Given the description of an element on the screen output the (x, y) to click on. 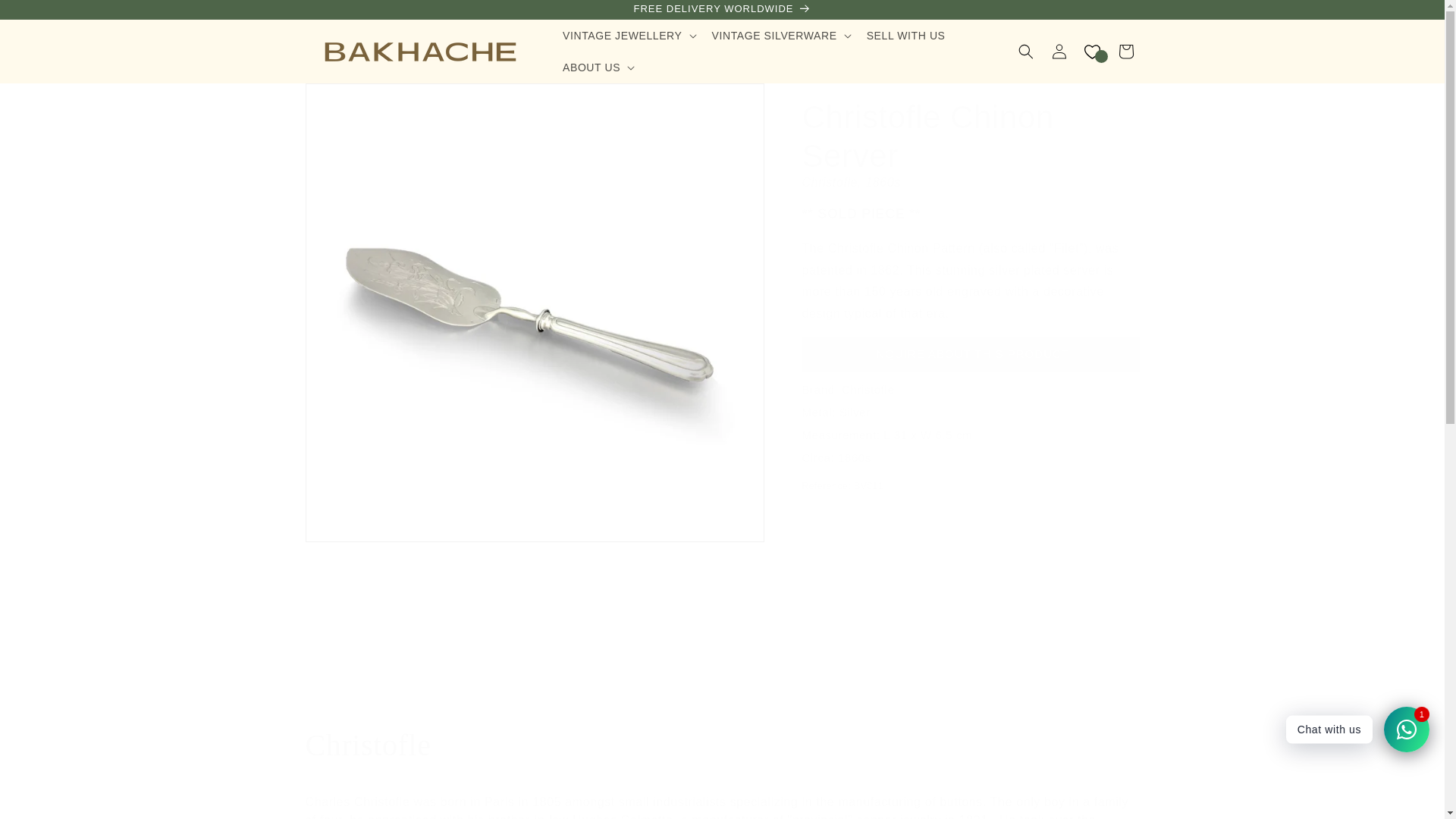
Skip to content (45, 17)
Christofle (721, 745)
FREE DELIVERY WORLDWIDE (721, 9)
